Given the description of an element on the screen output the (x, y) to click on. 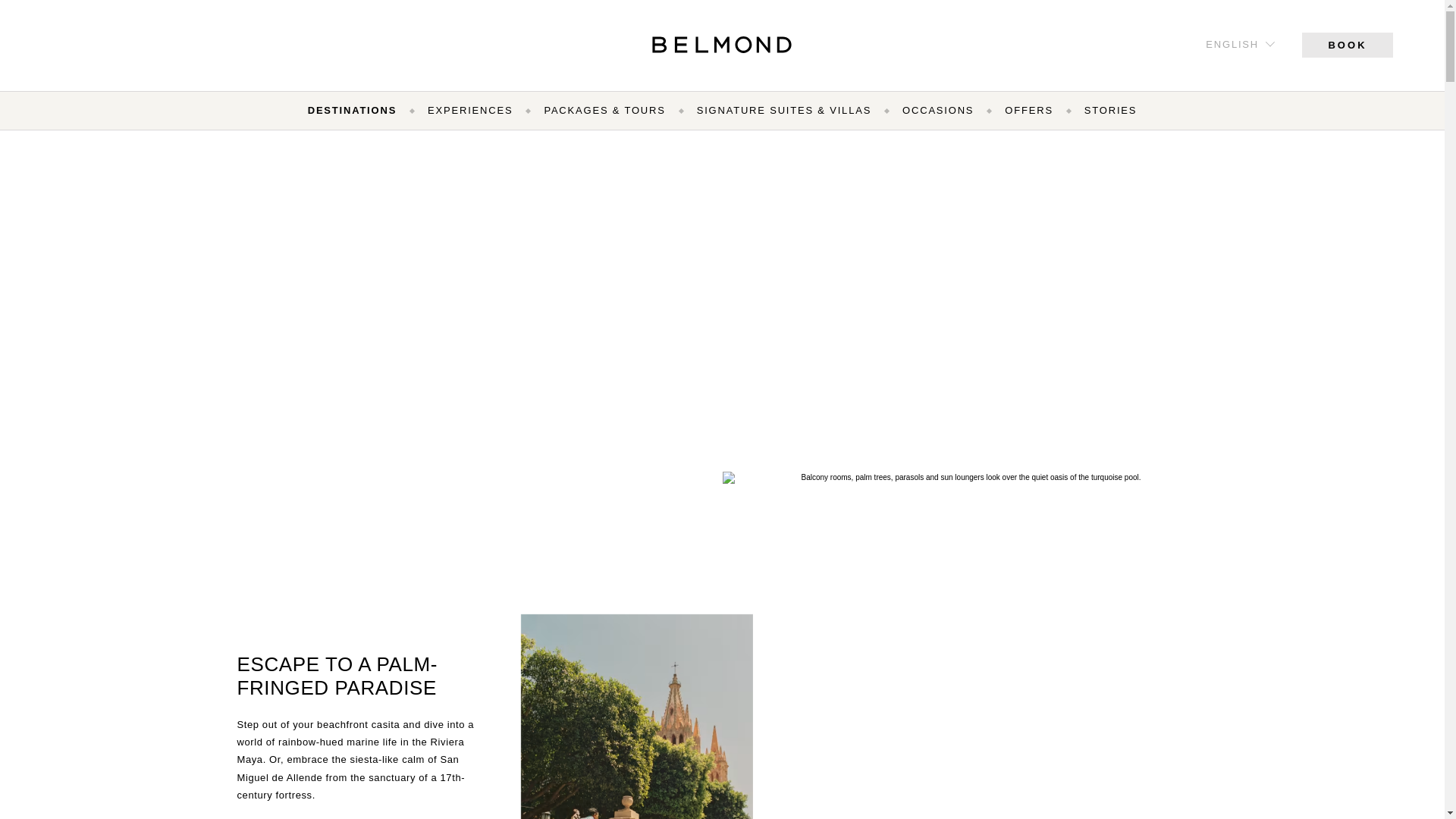
OFFERS (1028, 110)
DESTINATIONS (351, 110)
OCCASIONS (938, 110)
BOOK (1347, 44)
STORIES (1110, 110)
EXPERIENCES (470, 110)
